Given the description of an element on the screen output the (x, y) to click on. 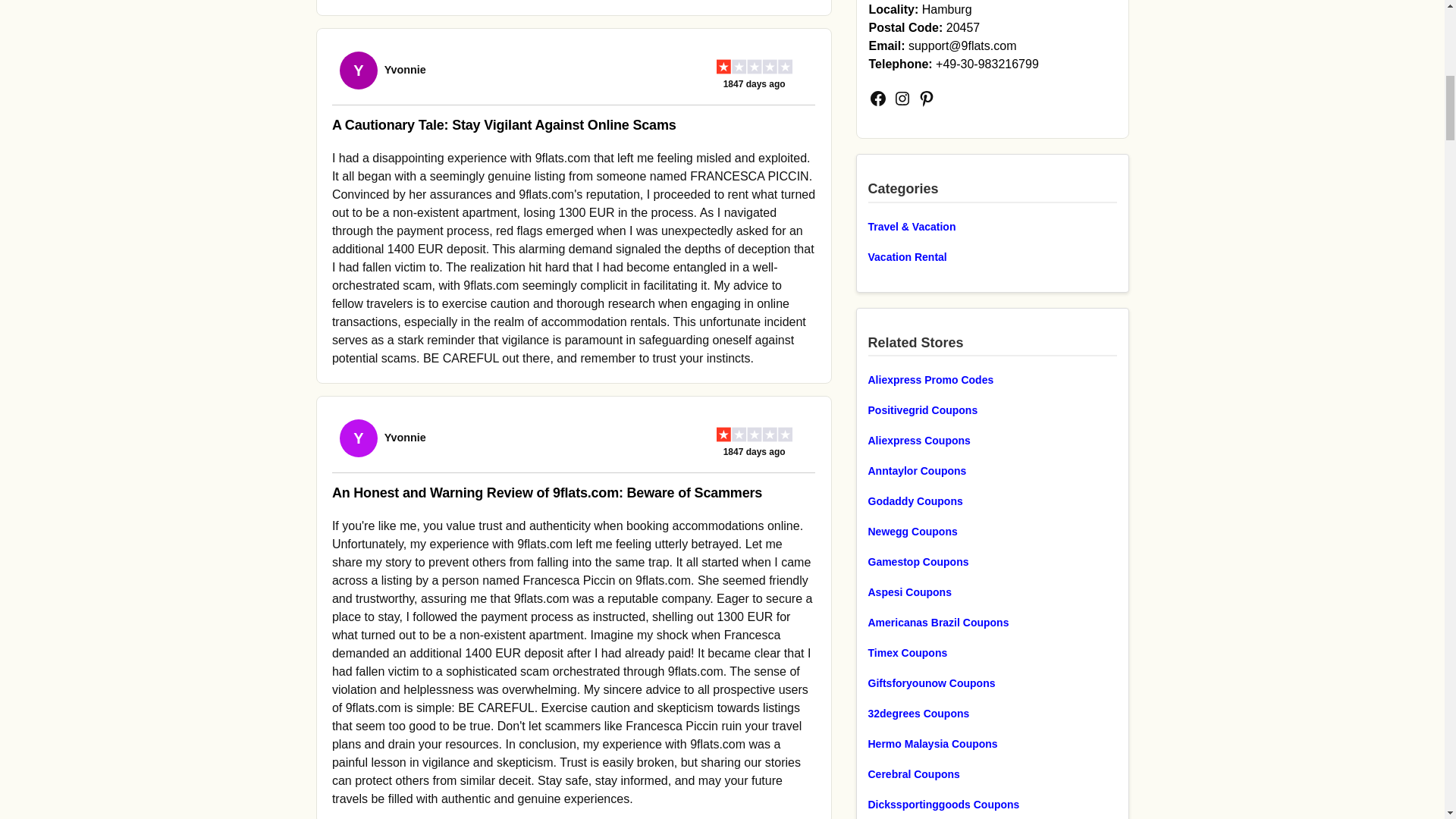
Anntaylor Coupons (991, 470)
Aliexpress Promo Codes (991, 379)
Positivegrid Coupons (991, 409)
Newegg Coupons (991, 531)
Pinterest (926, 98)
Instagram (902, 98)
Godaddy Coupons (991, 500)
Vacation Rental (991, 256)
Aliexpress Coupons (991, 440)
Facebook Page (877, 98)
